Given the description of an element on the screen output the (x, y) to click on. 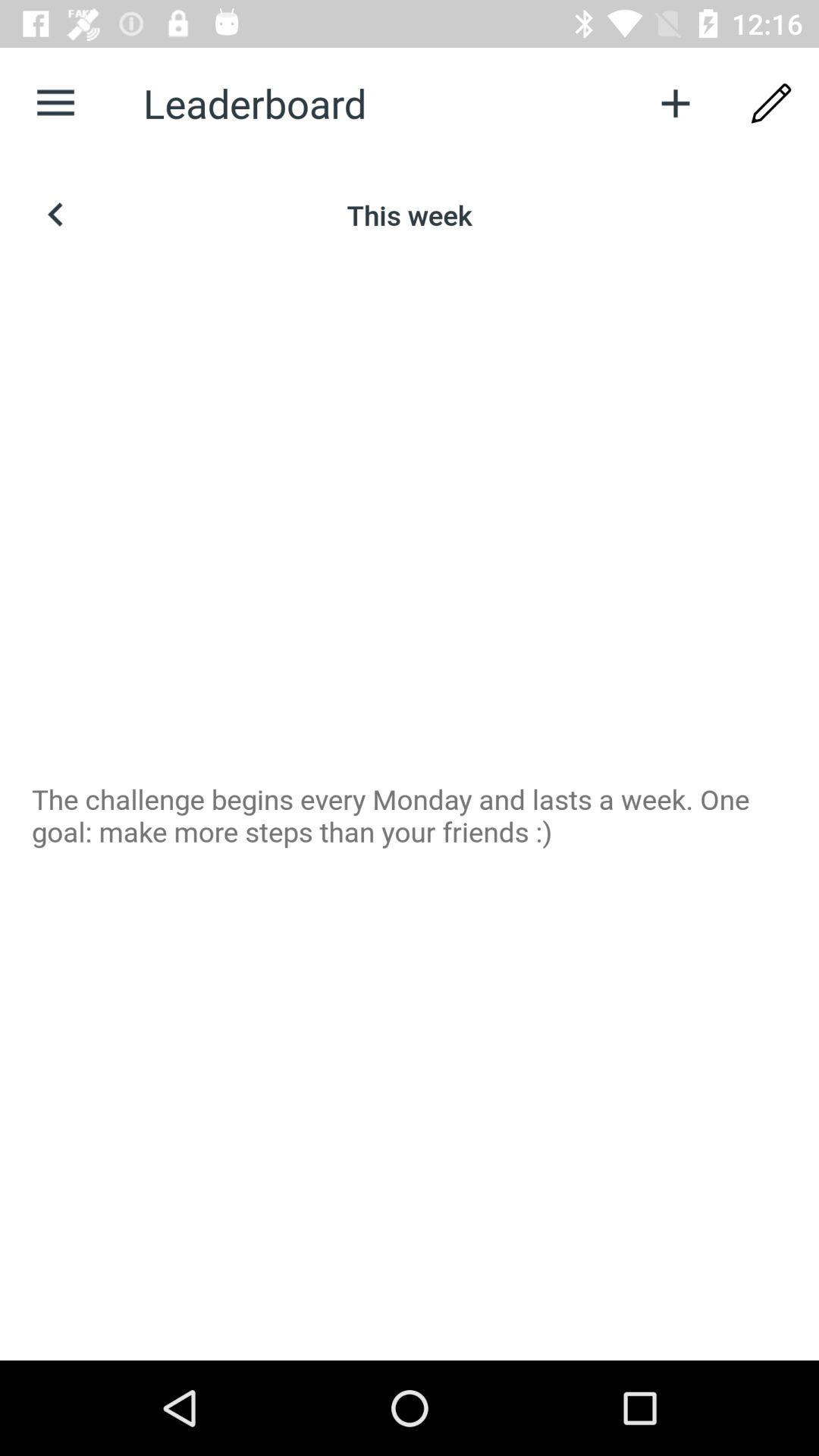
turn on item to the left of the leaderboard item (55, 103)
